Given the description of an element on the screen output the (x, y) to click on. 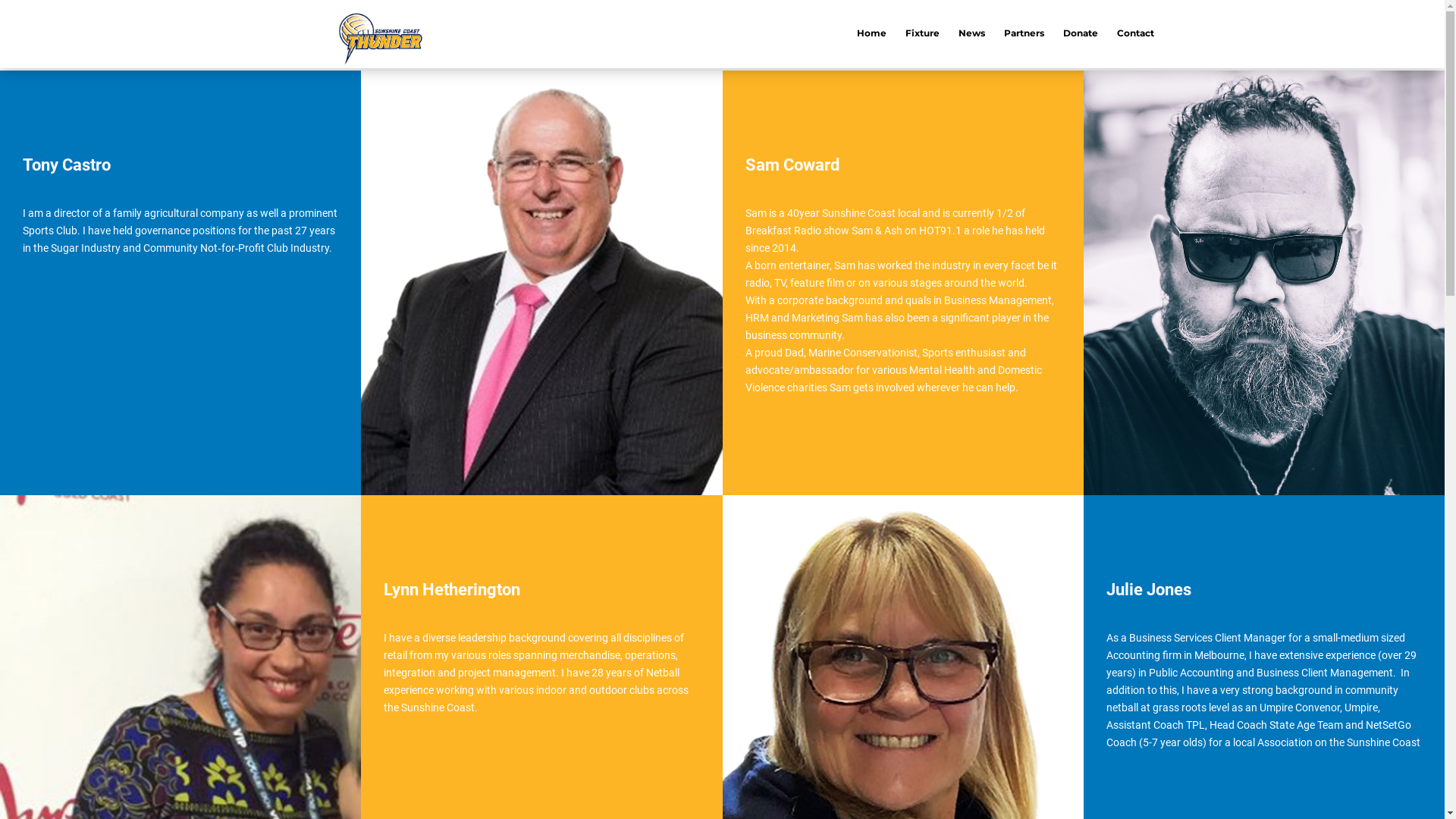
Fixture Element type: text (922, 34)
Contact Element type: text (1135, 34)
Partners Element type: text (1024, 34)
Home Element type: text (871, 34)
Donate Element type: text (1080, 34)
News Element type: text (971, 34)
